Given the description of an element on the screen output the (x, y) to click on. 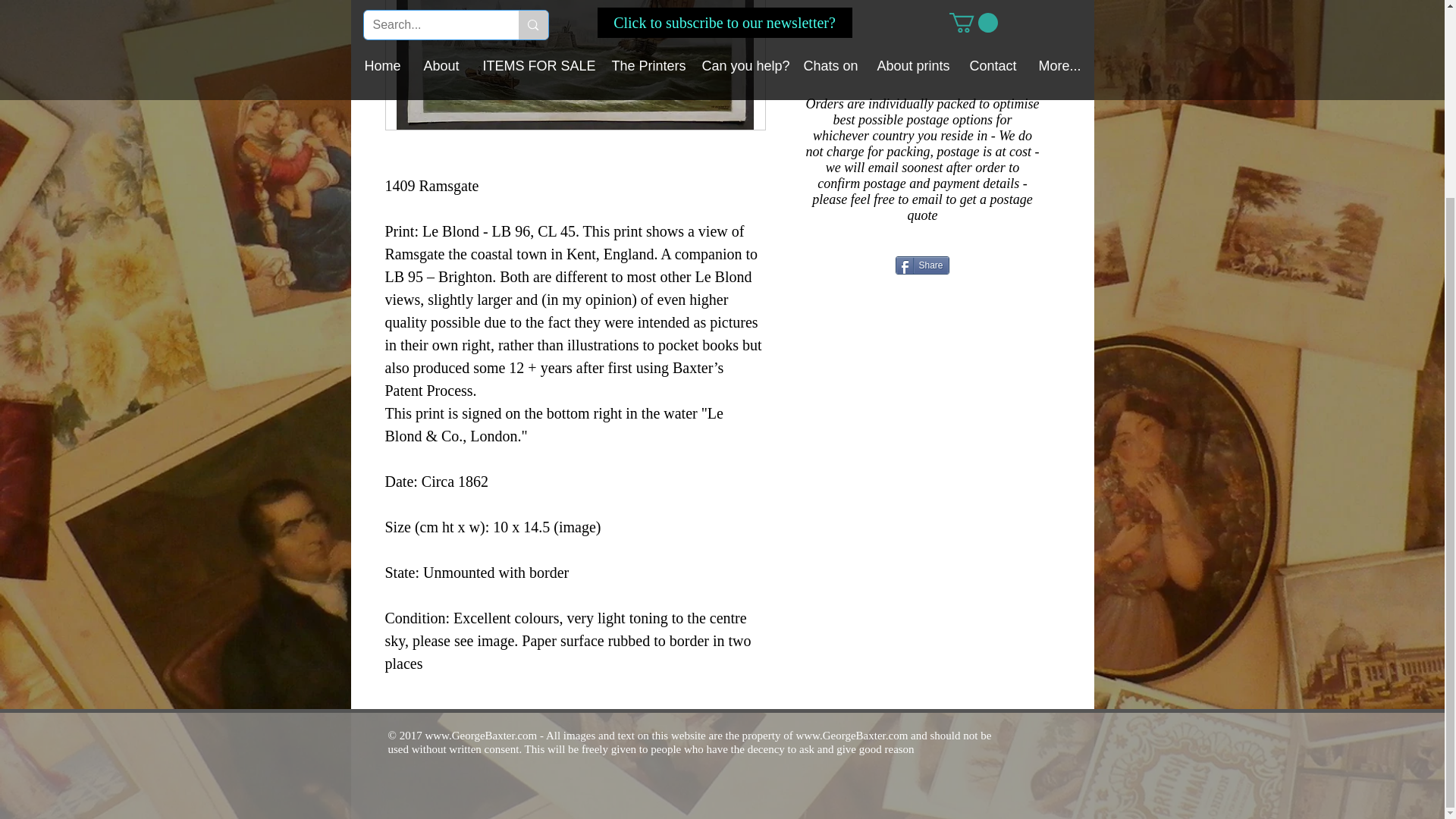
Share (922, 265)
